Given the description of an element on the screen output the (x, y) to click on. 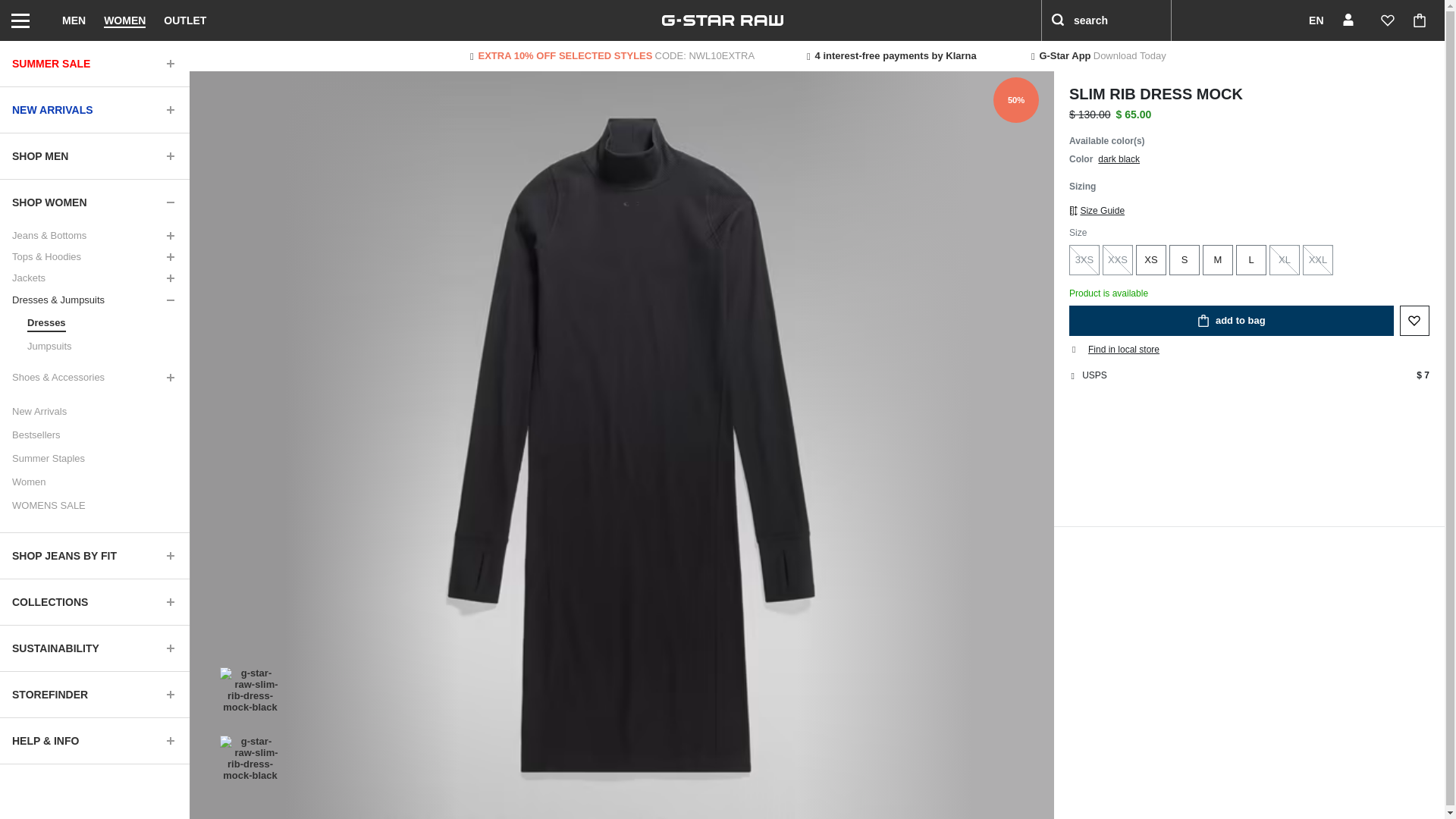
WOMEN (124, 20)
SHOP MEN (94, 156)
SUMMER SALE (94, 63)
MEN (73, 20)
NEW ARRIVALS (94, 109)
G-Star RAW (721, 20)
EN (1306, 20)
OUTLET (184, 20)
